Given the description of an element on the screen output the (x, y) to click on. 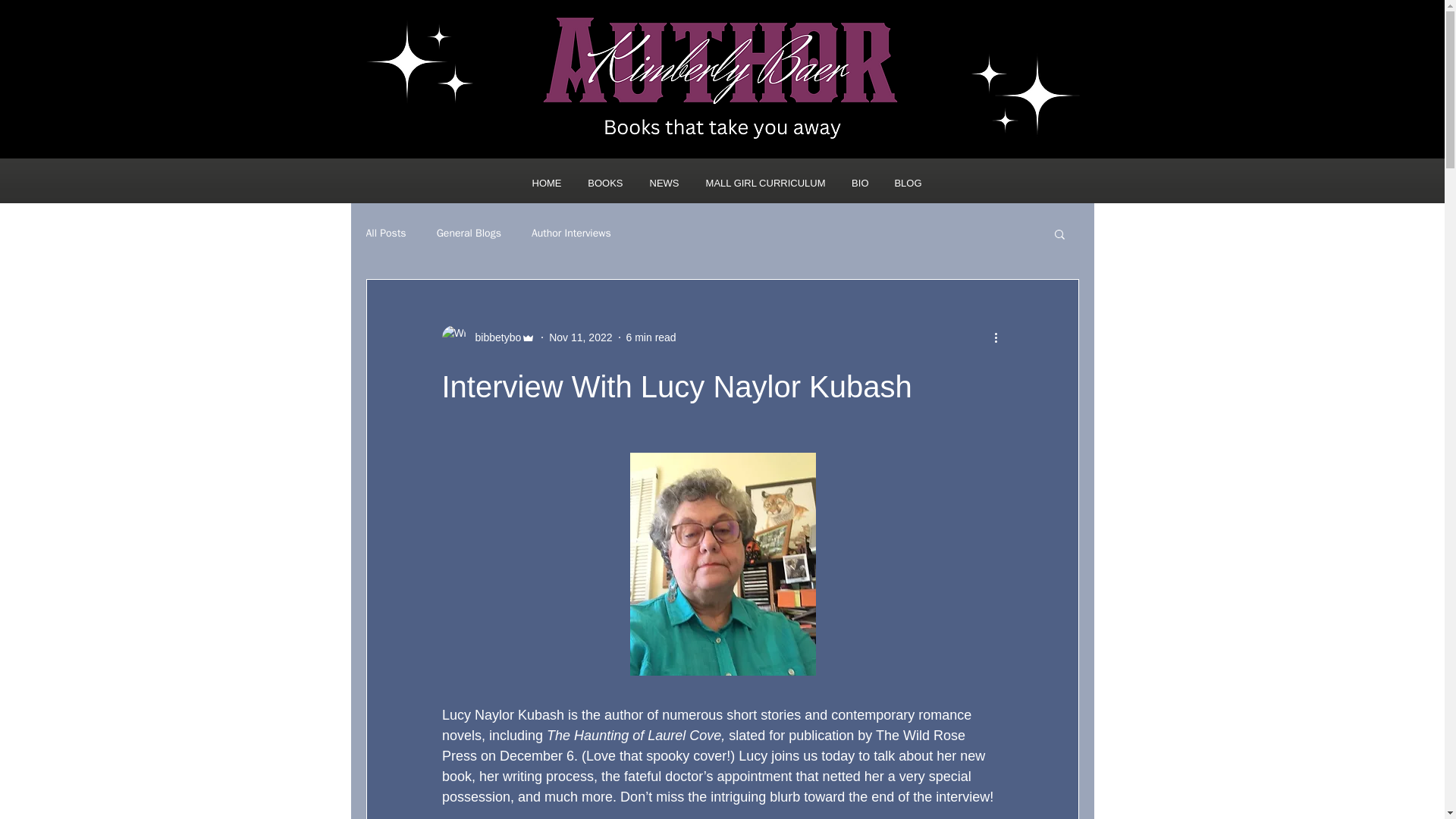
General Blogs (468, 233)
MALL GIRL CURRICULUM (759, 182)
BLOG (903, 182)
Author Interviews (571, 233)
NEWS (658, 182)
All Posts (385, 233)
bibbetybo (493, 336)
Nov 11, 2022 (579, 336)
BIO (855, 182)
6 min read (651, 336)
